Given the description of an element on the screen output the (x, y) to click on. 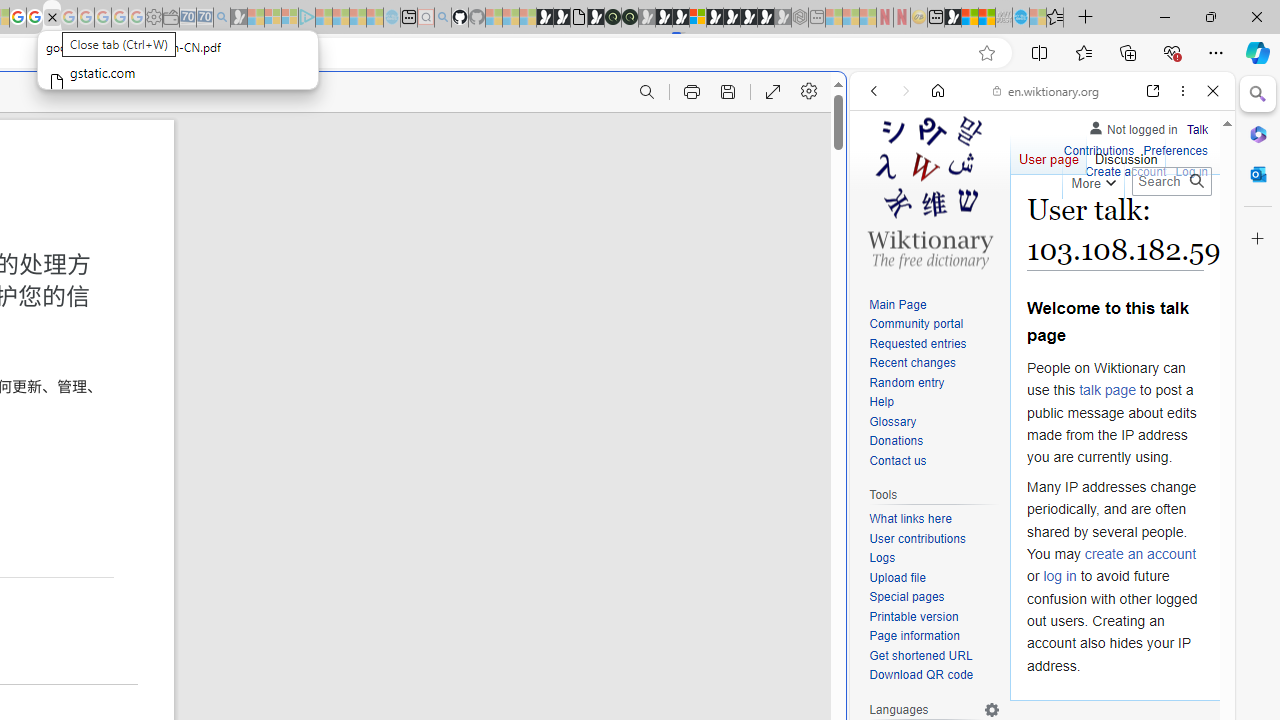
Random entry (906, 382)
Wallet - Sleeping (170, 17)
Settings and more (809, 92)
Community portal (934, 324)
Discussion (1125, 154)
Preferences (1189, 228)
New tab - Sleeping (817, 17)
Home | Sky Blue Bikes - Sky Blue Bikes (687, 426)
Recent changes (934, 363)
Talk (1197, 126)
IMAGES (939, 228)
Forward (906, 91)
